Given the description of an element on the screen output the (x, y) to click on. 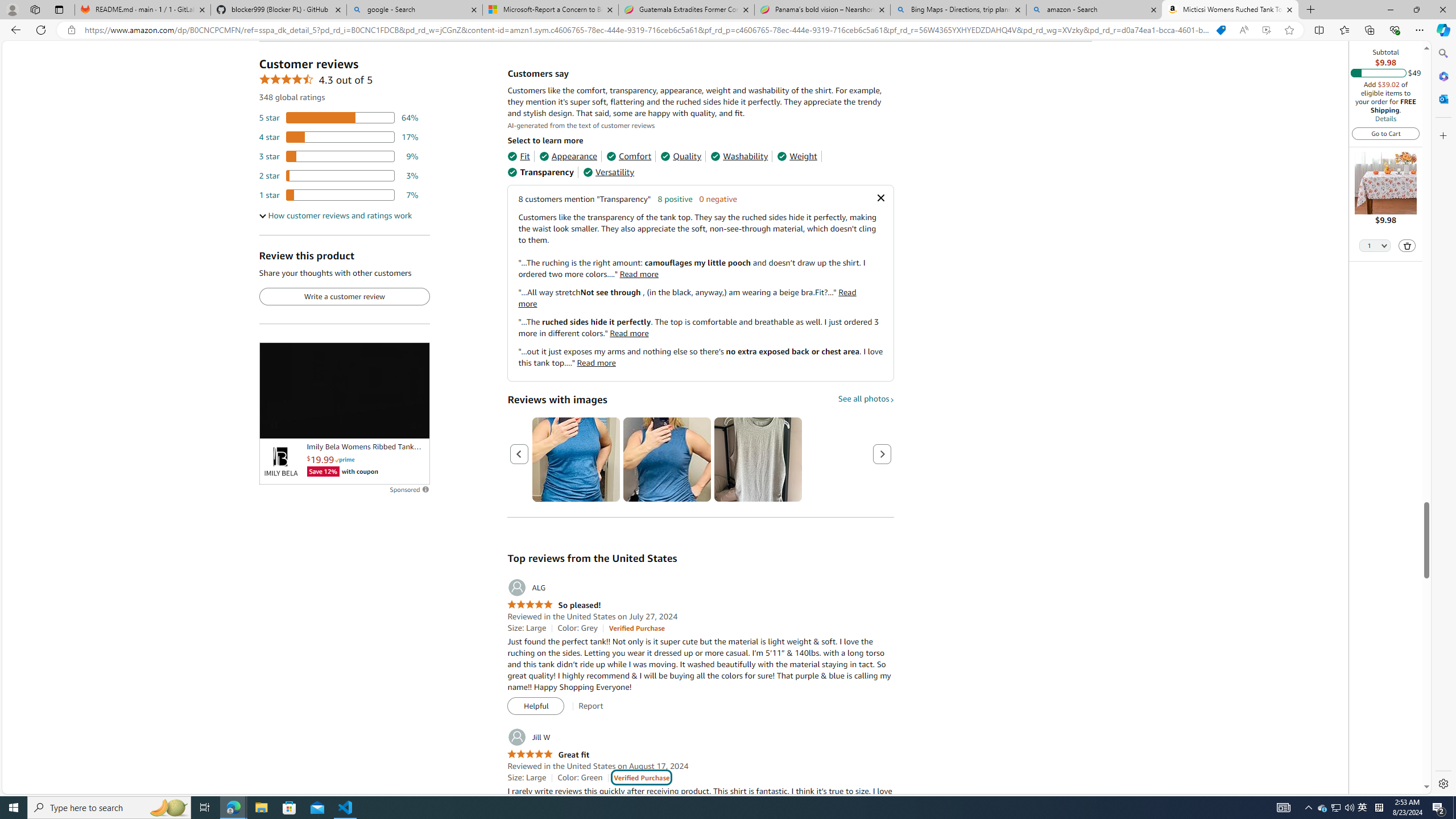
Quality (681, 156)
Transparency (539, 172)
Fit (517, 156)
Appearance (568, 156)
5.0 out of 5 stars Great fit (547, 754)
5.0 out of 5 stars So pleased! (553, 605)
How customer reviews and ratings work (335, 215)
Washability (739, 156)
3 percent of reviews have 2 stars (339, 175)
